Given the description of an element on the screen output the (x, y) to click on. 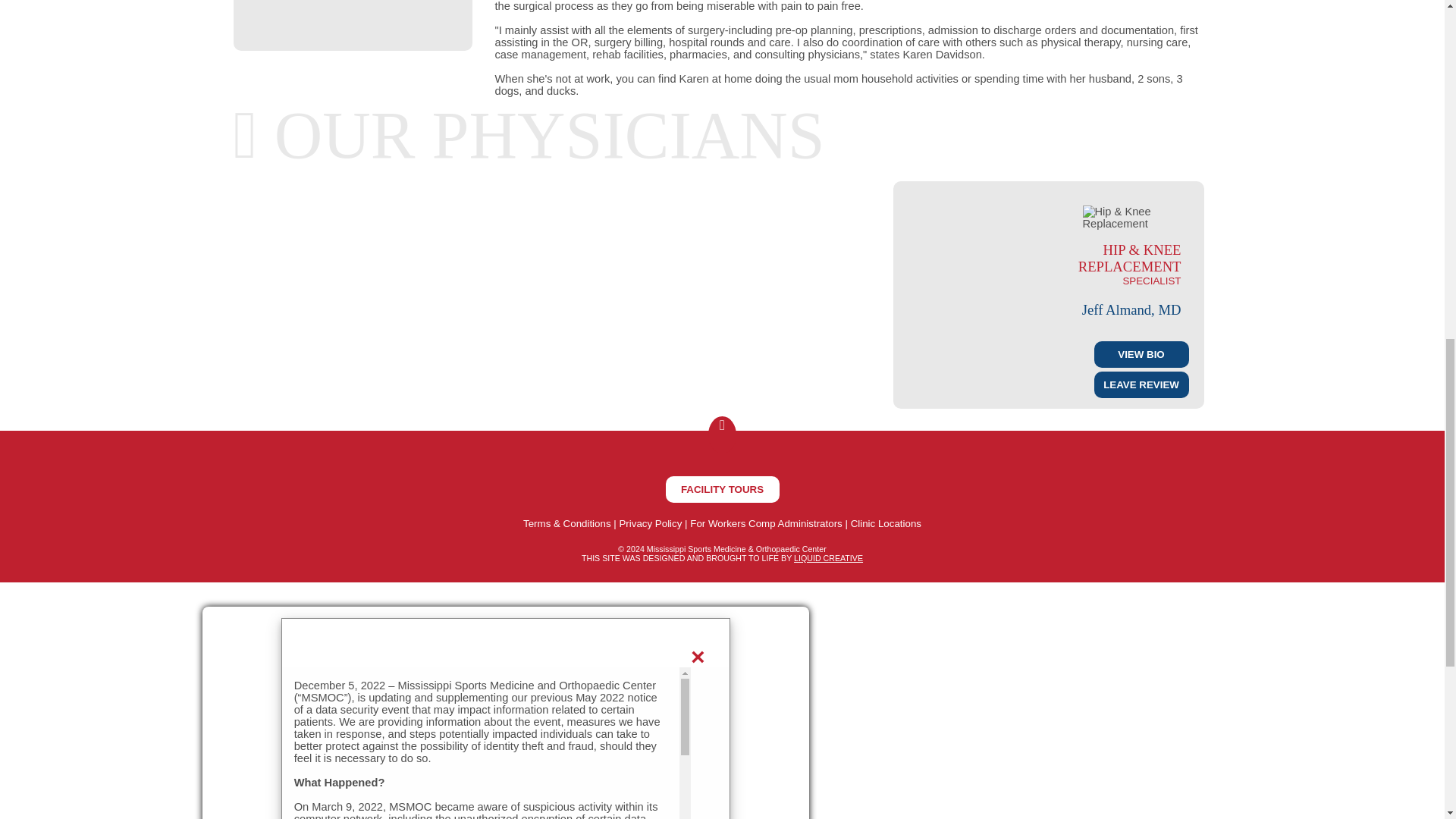
VIEW BIO (1140, 354)
For Workers Comp Administrators (765, 523)
Privacy Policy (649, 523)
LIQUID CREATIVE (828, 557)
LEAVE REVIEW (1140, 384)
Clinic Locations (885, 523)
FACILITY TOURS (721, 488)
